Given the description of an element on the screen output the (x, y) to click on. 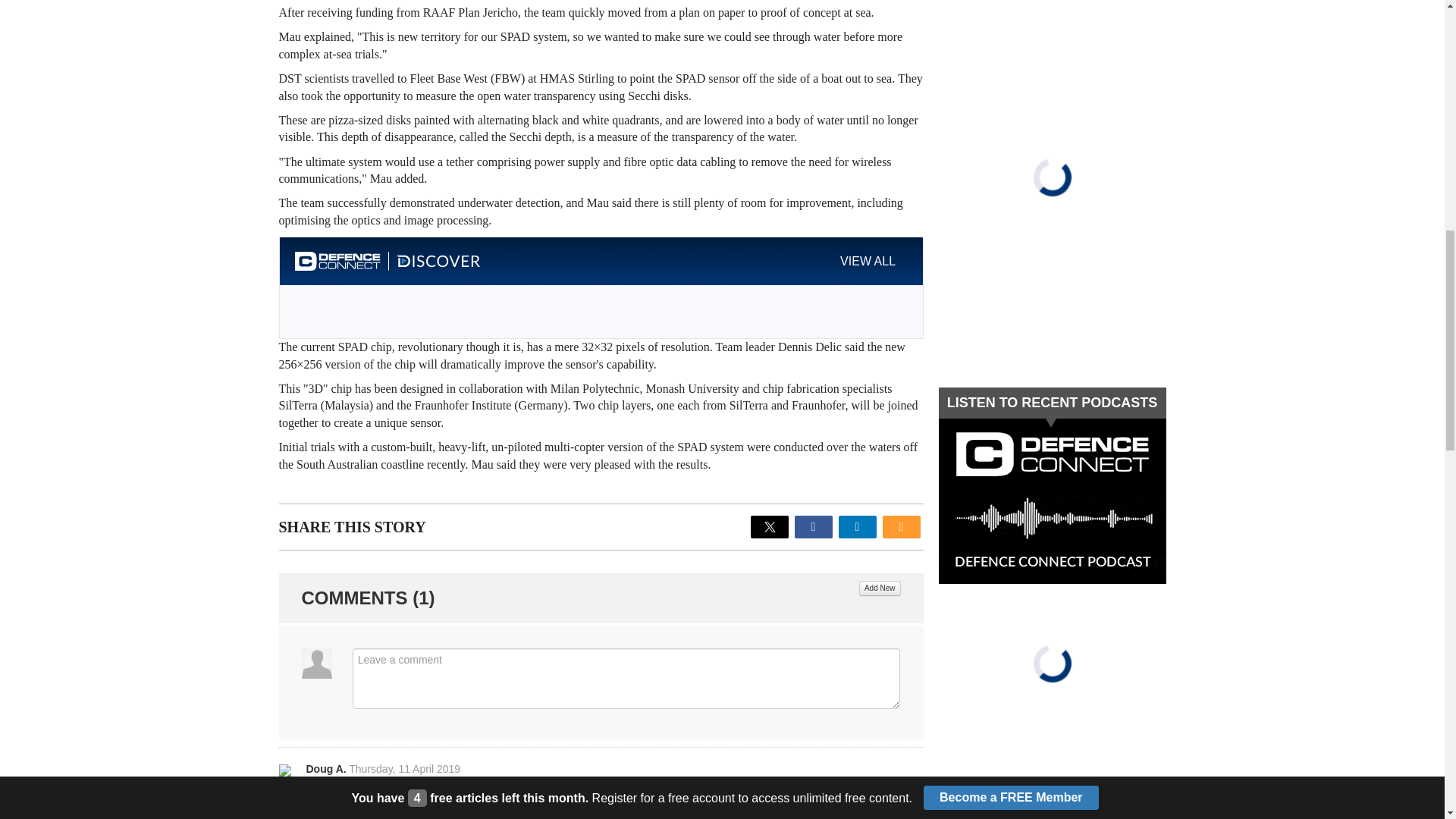
Add New (880, 588)
